Given the description of an element on the screen output the (x, y) to click on. 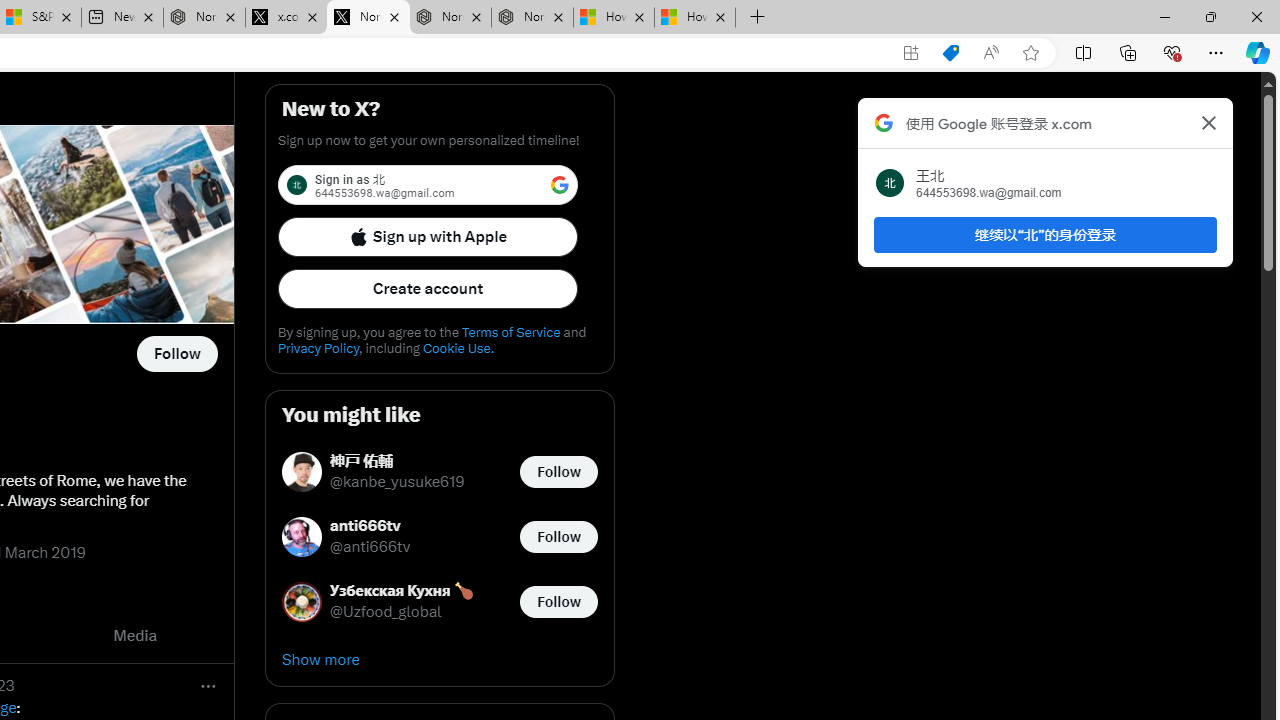
Follow @anti666tv (558, 535)
Shopping in Microsoft Edge (950, 53)
x.com/NordaceOfficial (137, 17)
Show more (440, 660)
App available. Install X (910, 53)
